Given the description of an element on the screen output the (x, y) to click on. 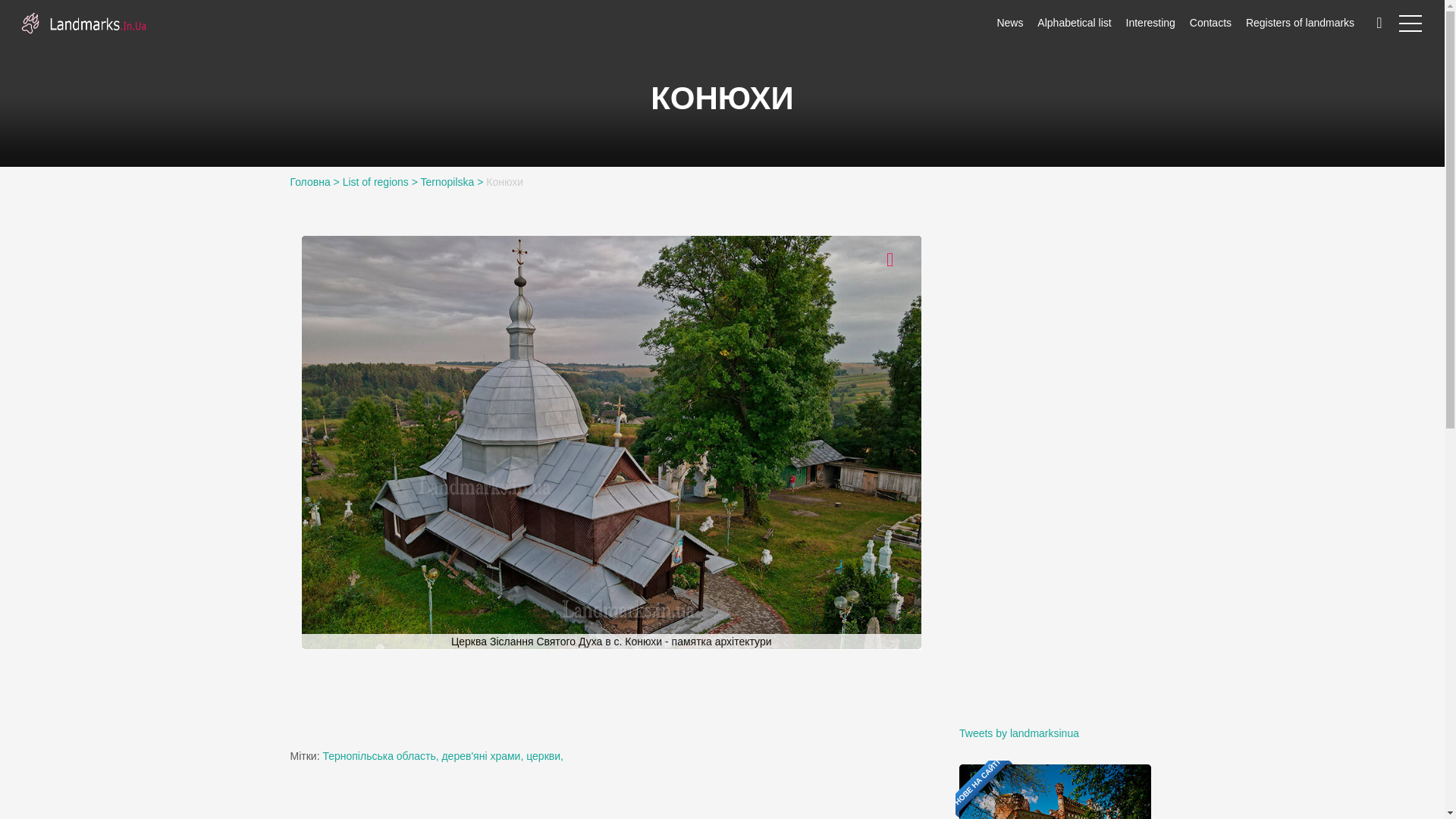
Menu mobile (1410, 26)
Interesting (1149, 22)
Registers of landmarks (1300, 22)
Alphabetical list (1073, 22)
Contacts (1210, 22)
News (1009, 22)
Interesting (1149, 22)
Alphabetical list (1073, 22)
News (1009, 22)
Registers of landmarks (1300, 22)
Contacts (1210, 22)
